Given the description of an element on the screen output the (x, y) to click on. 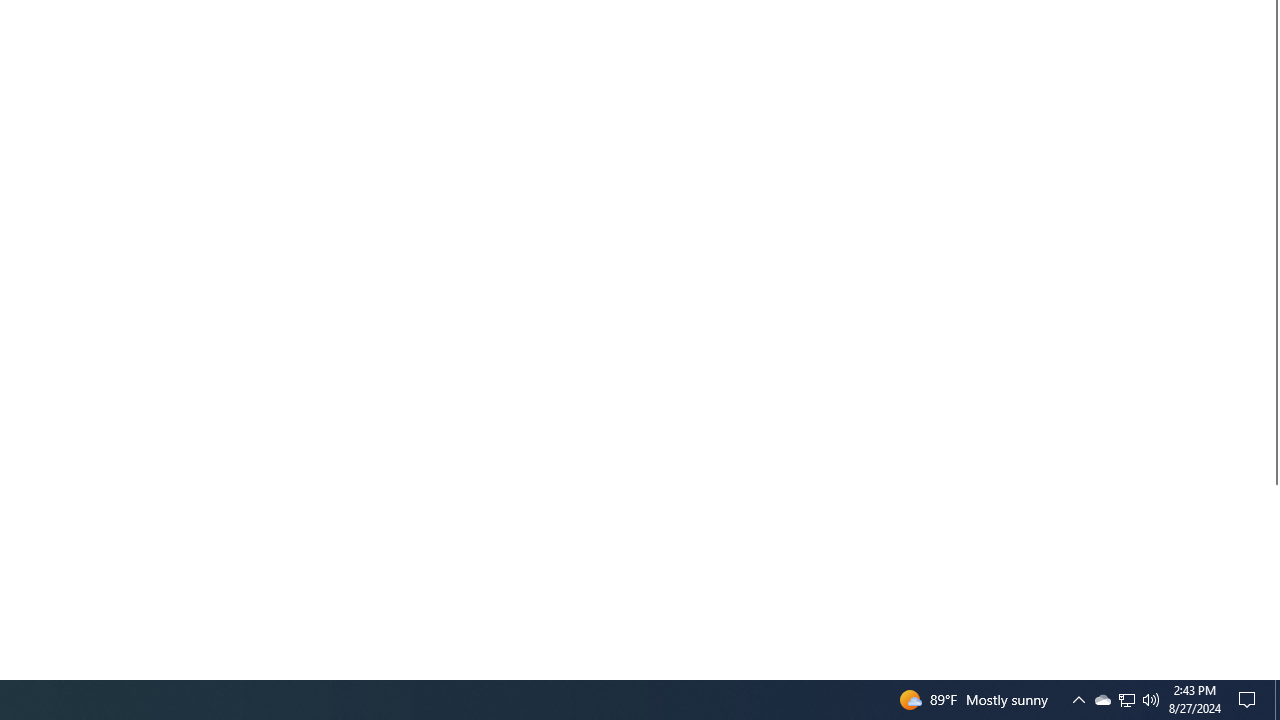
Vertical Small Increase (1272, 671)
Vertical Large Increase (1272, 574)
